Given the description of an element on the screen output the (x, y) to click on. 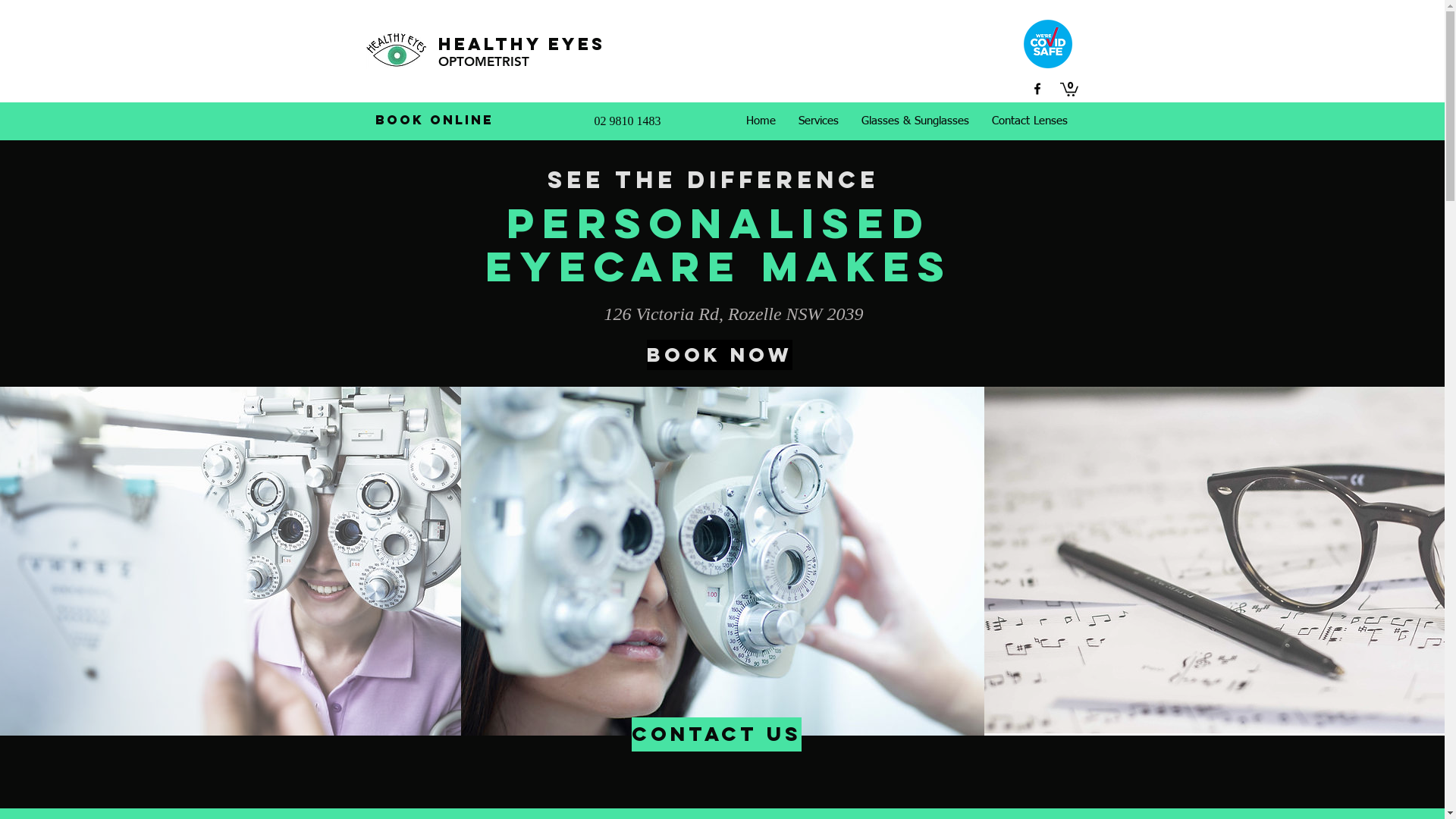
BOOK NOW Element type: text (718, 354)
Contact Lenses Element type: text (1028, 120)
0 Element type: text (1069, 88)
Home Element type: text (760, 120)
BOOK ONLINE Element type: text (433, 119)
Glasses & Sunglasses Element type: text (914, 120)
Contact Us Element type: text (715, 734)
Services Element type: text (818, 120)
